Given the description of an element on the screen output the (x, y) to click on. 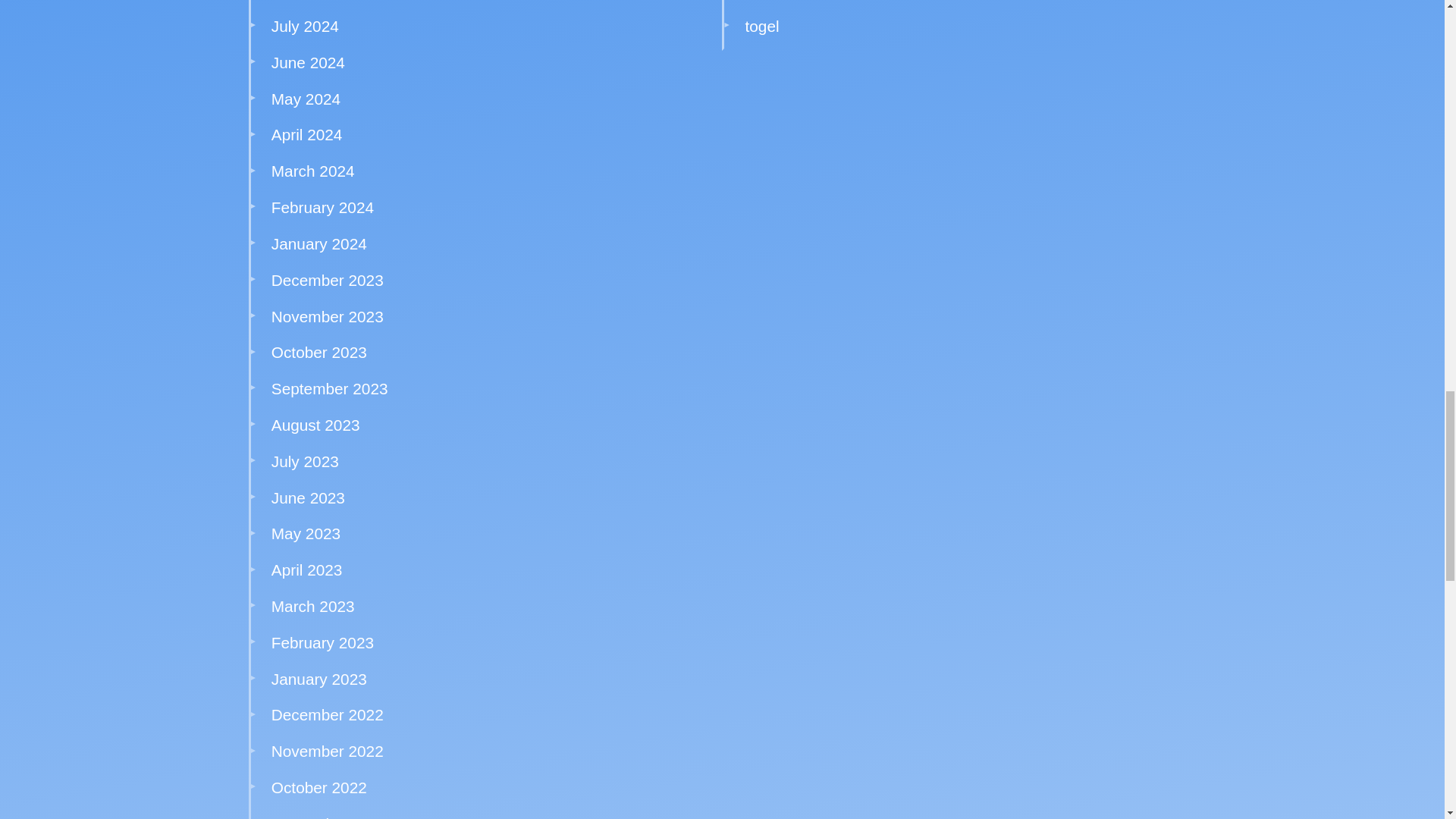
September 2023 (329, 388)
April 2023 (306, 569)
November 2023 (327, 316)
July 2023 (304, 461)
November 2022 (327, 751)
May 2023 (305, 533)
February 2023 (322, 642)
February 2024 (322, 207)
December 2022 (327, 714)
April 2024 (306, 134)
